Given the description of an element on the screen output the (x, y) to click on. 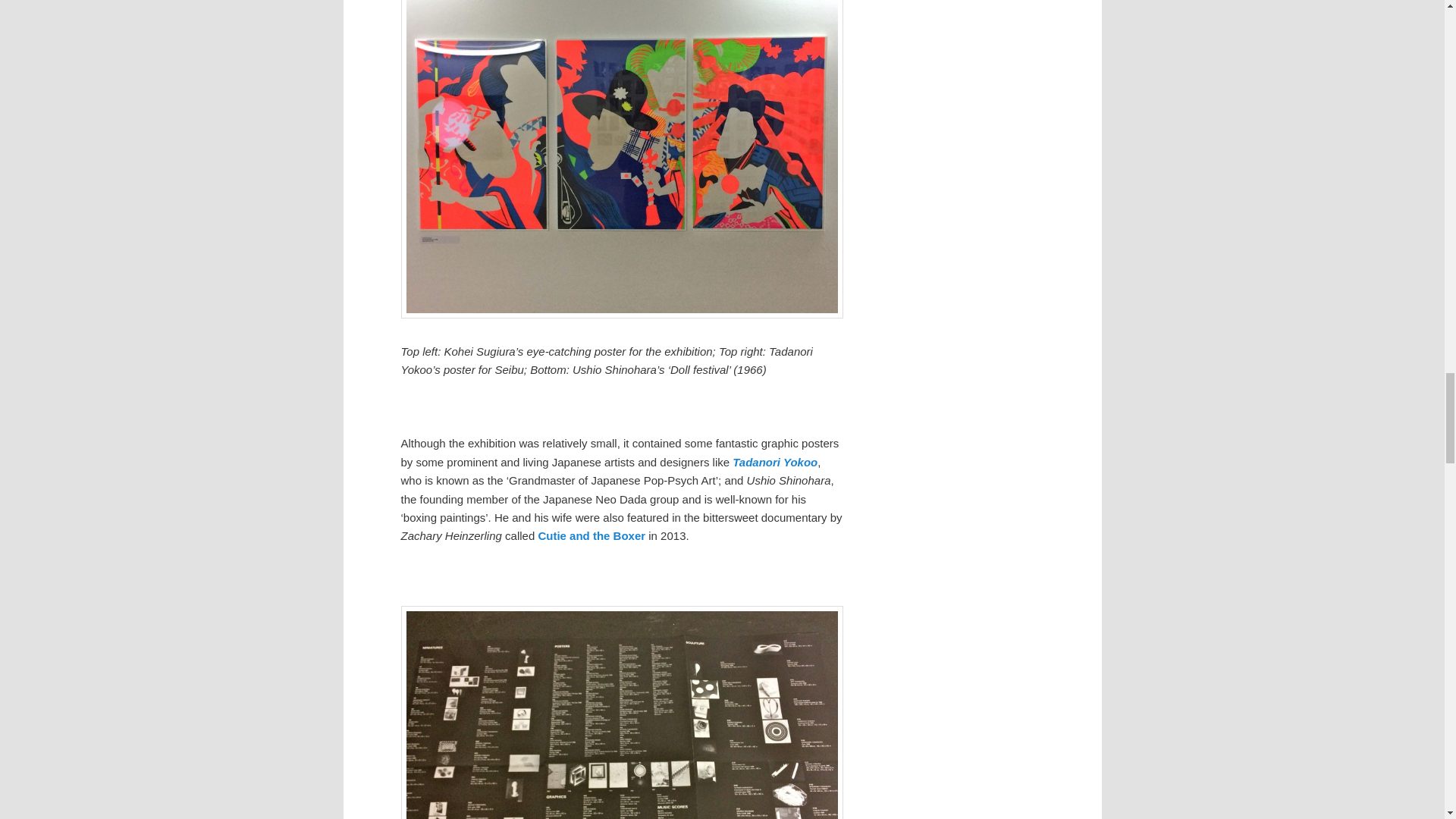
Tadanori Yokoo (774, 461)
Cutie and the Boxer (591, 535)
